Given the description of an element on the screen output the (x, y) to click on. 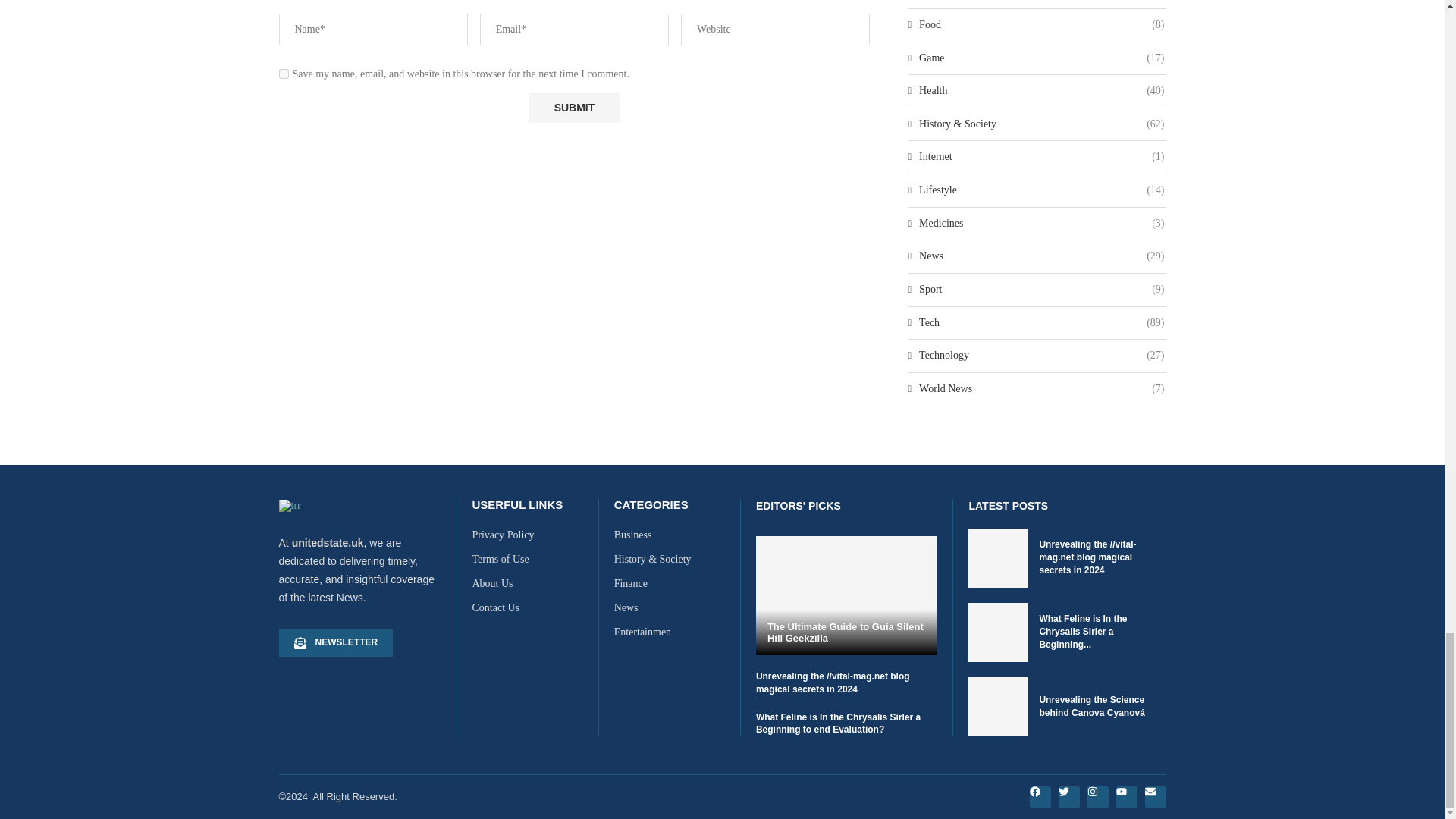
yes (283, 73)
Submit (574, 107)
The Ultimate Guide to Guia Silent Hill Geekzilla (846, 595)
trr (290, 505)
The Ultimate Guide to Guia Silent Hill Geekzilla (846, 632)
